Given the description of an element on the screen output the (x, y) to click on. 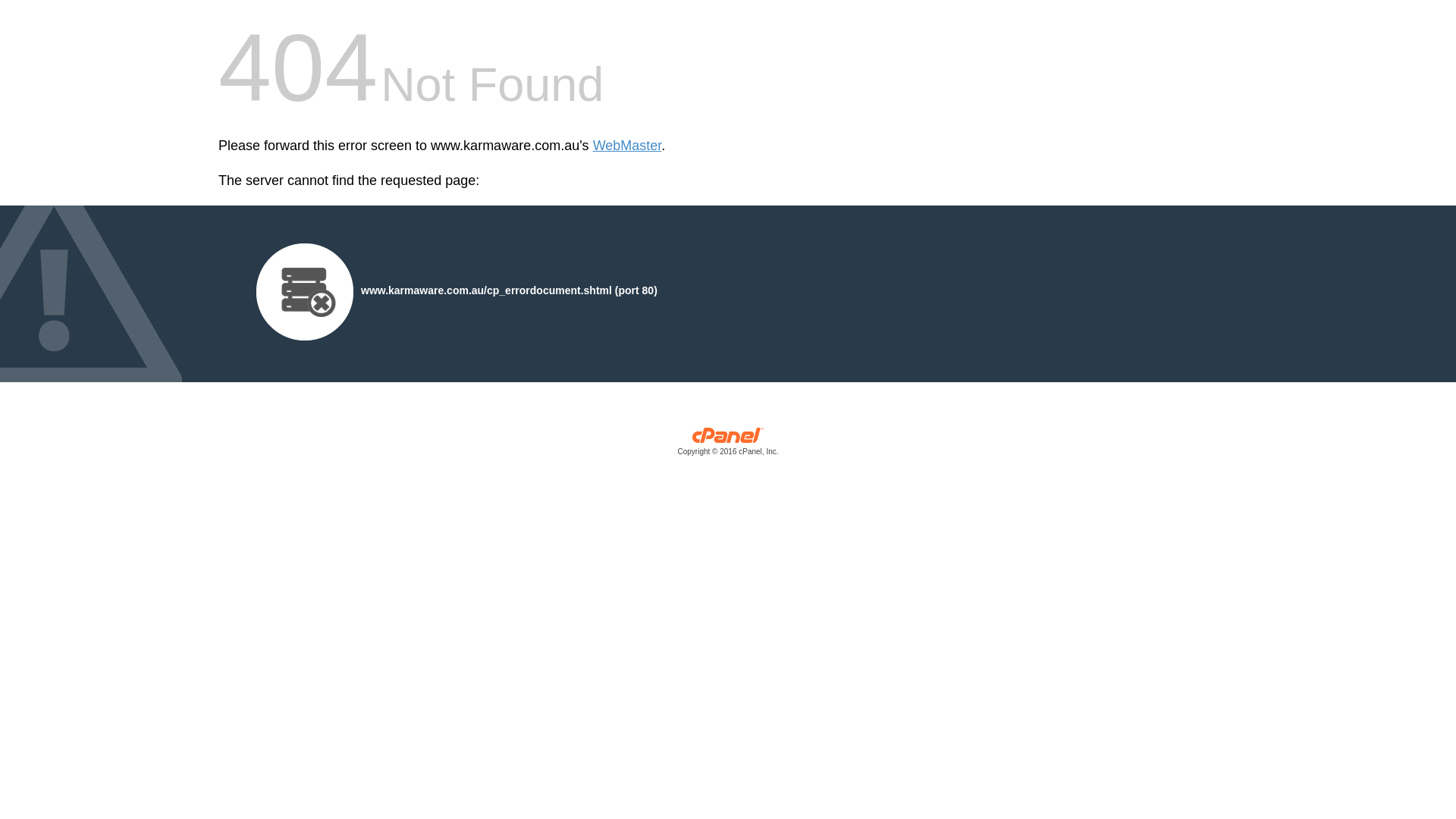
WebMaster Element type: text (627, 145)
